Given the description of an element on the screen output the (x, y) to click on. 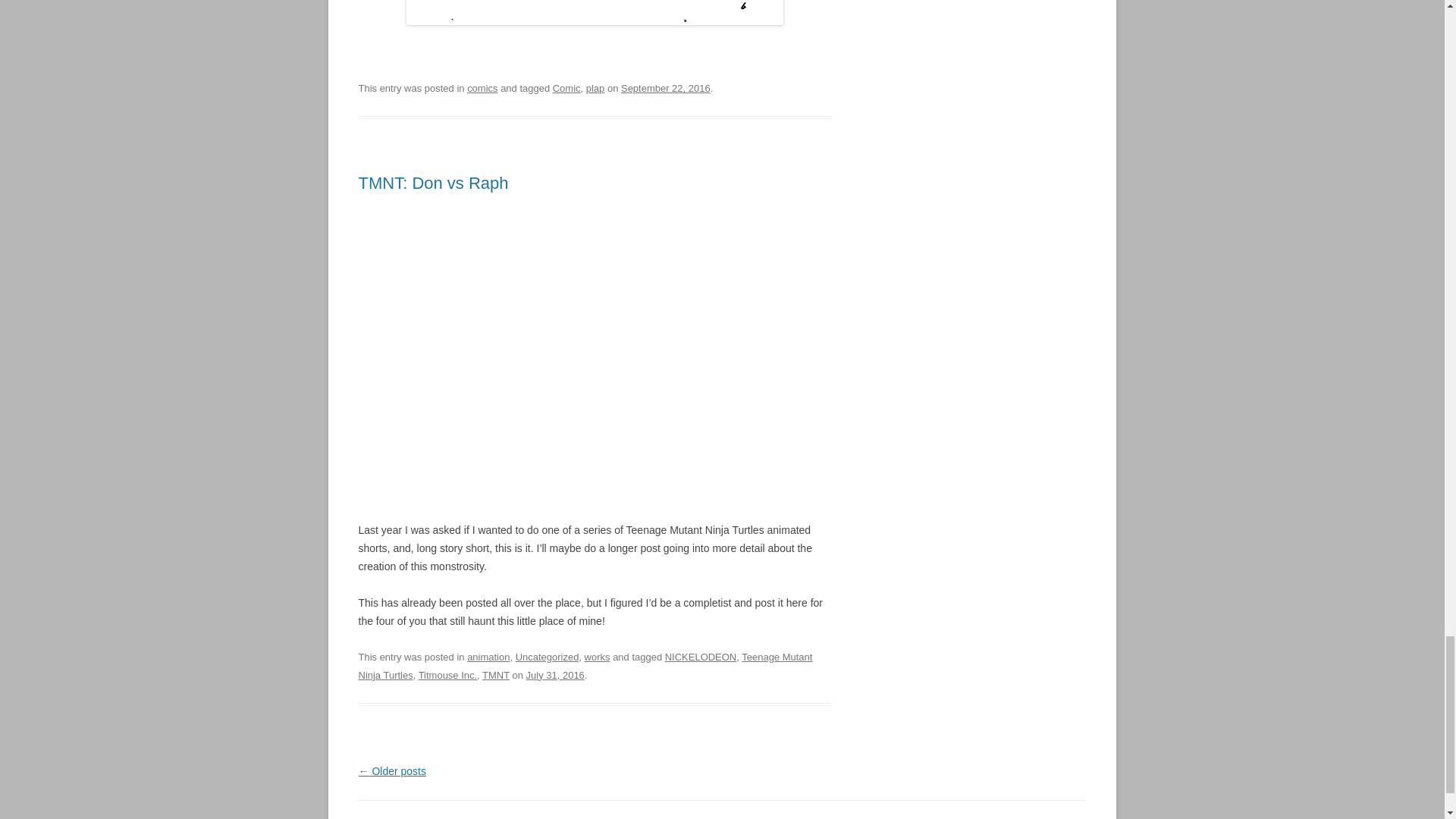
TMNT (495, 674)
works (597, 656)
TMNT: Don vs Raph (433, 182)
6:26 am (665, 88)
Titmouse Inc. (448, 674)
Comic (566, 88)
plap (595, 88)
animation (488, 656)
Teenage Mutant Ninja Turtles (585, 665)
NICKELODEON (700, 656)
Uncategorized (547, 656)
comics (482, 88)
September 22, 2016 (665, 88)
